Given the description of an element on the screen output the (x, y) to click on. 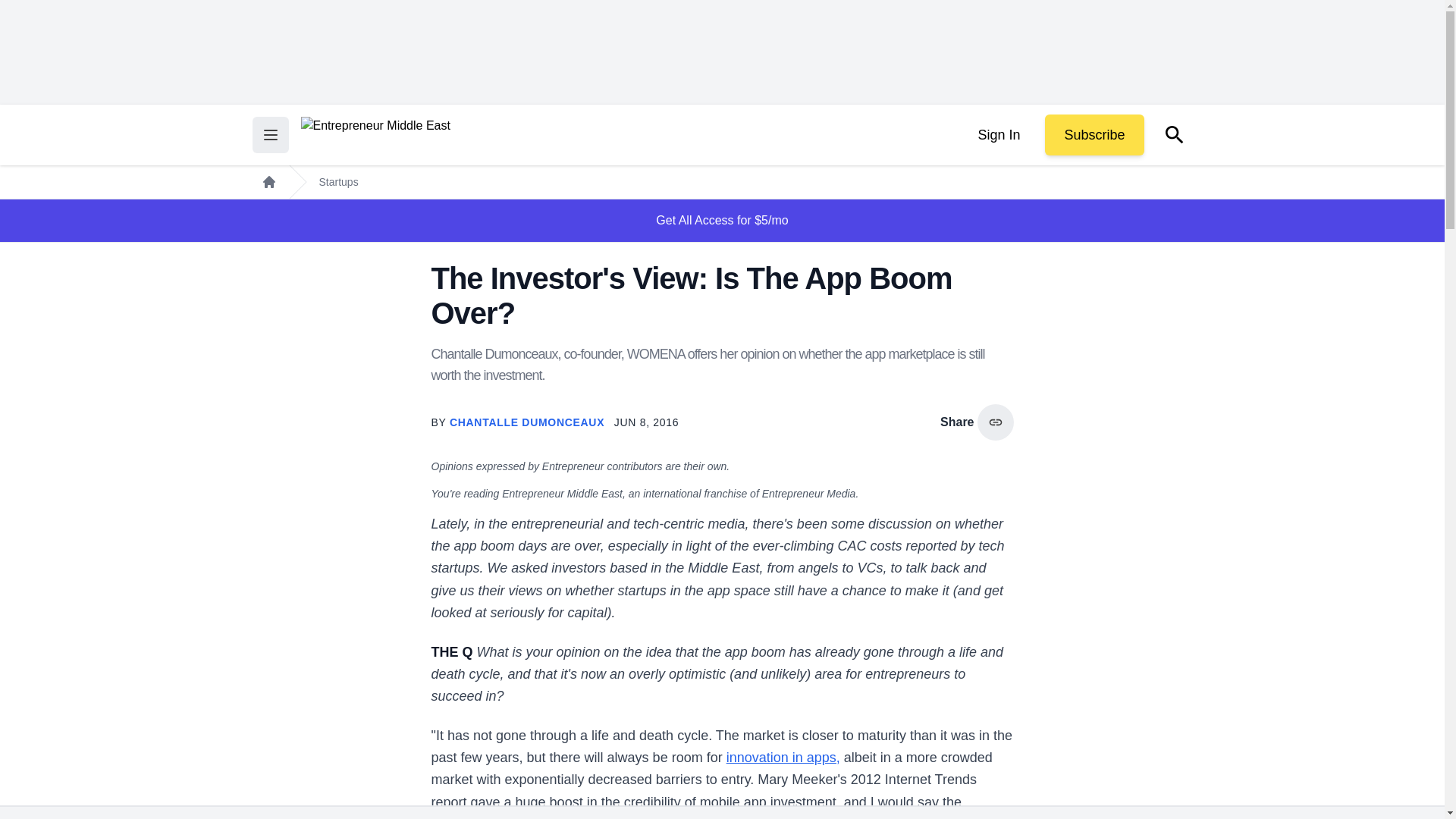
Return to the home page (374, 135)
copy (994, 422)
Subscribe (1093, 134)
Sign In (998, 134)
